Given the description of an element on the screen output the (x, y) to click on. 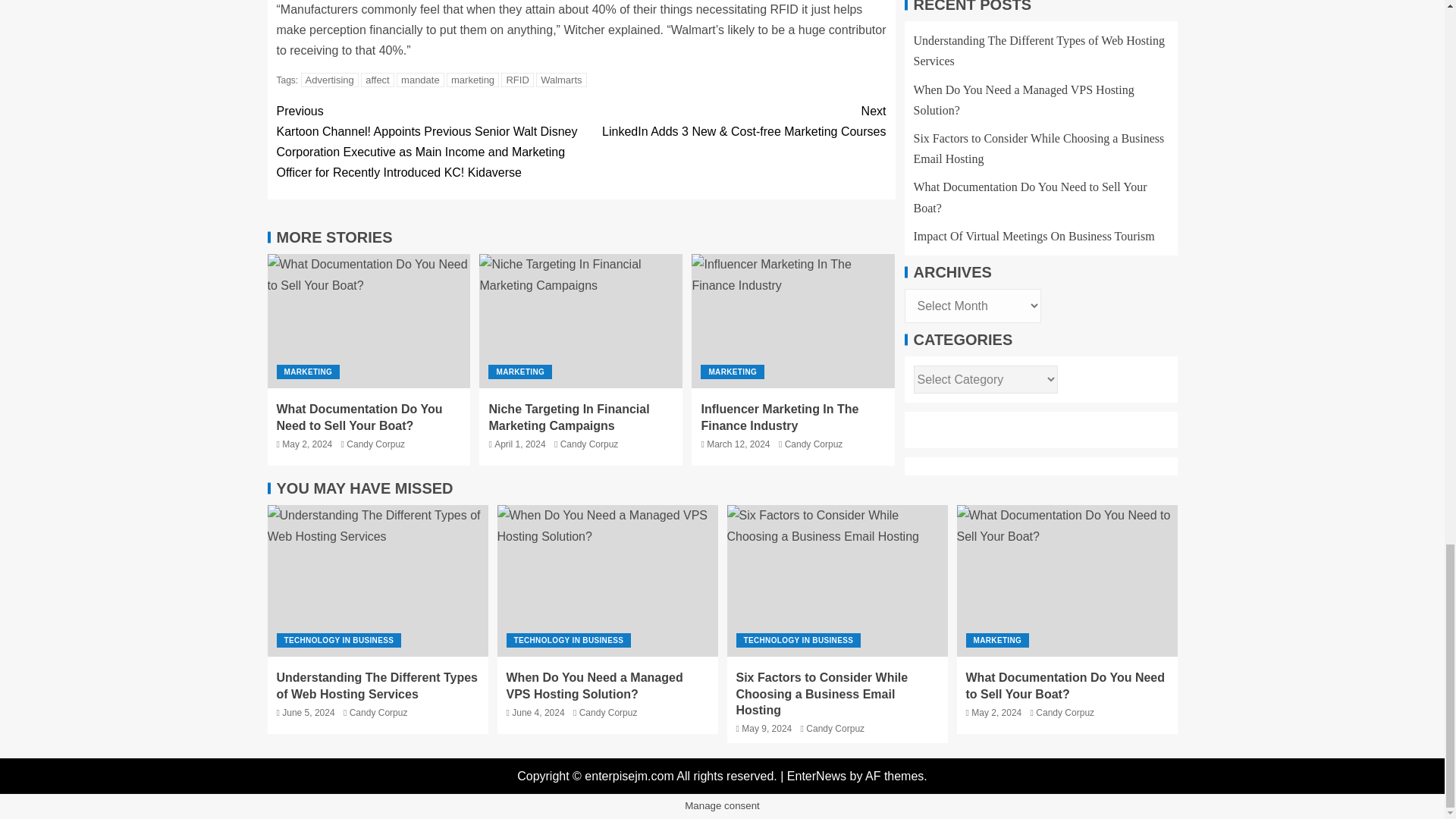
Walmarts (560, 79)
marketing (472, 79)
Niche Targeting In Financial Marketing Campaigns (580, 320)
Candy Corpuz (375, 443)
When Do You Need a Managed VPS Hosting Solution? (607, 580)
MARKETING (307, 371)
mandate (420, 79)
What Documentation Do You Need to Sell Your Boat? (1066, 580)
Influencer Marketing In The Finance Industry (793, 320)
Niche Targeting In Financial Marketing Campaigns (568, 416)
